Given the description of an element on the screen output the (x, y) to click on. 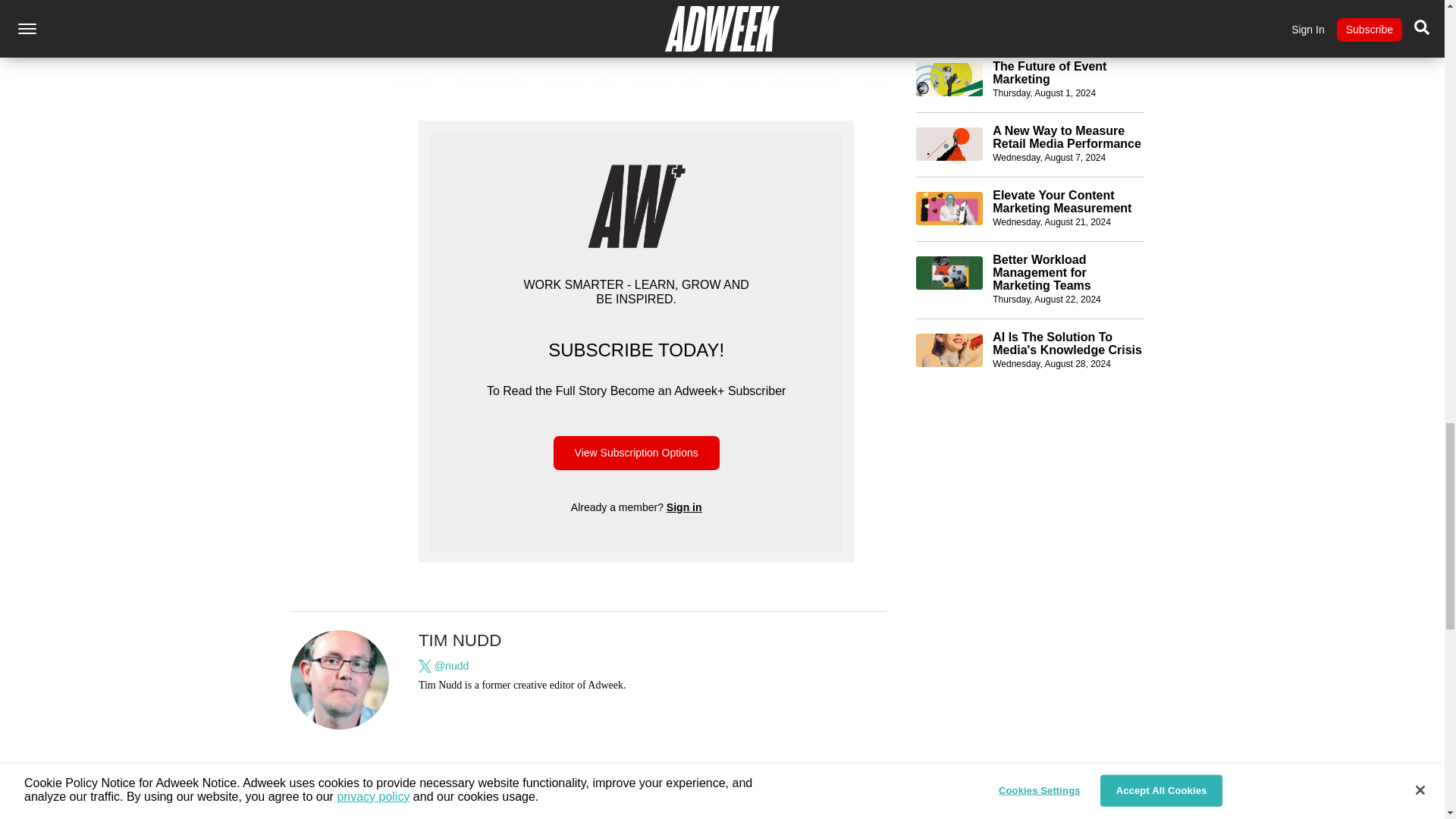
Qatalog-Webinar-082824-Header (948, 286)
Sign in (683, 507)
Stackline-Webinar-080724-Header (948, 80)
TIM NUDD (459, 640)
Nativo-Webinar-082124-Header (948, 144)
Adobe-Webinar-082224-Header (948, 209)
View Subscription Options (636, 452)
CventWebinar08012Header (948, 16)
